Given the description of an element on the screen output the (x, y) to click on. 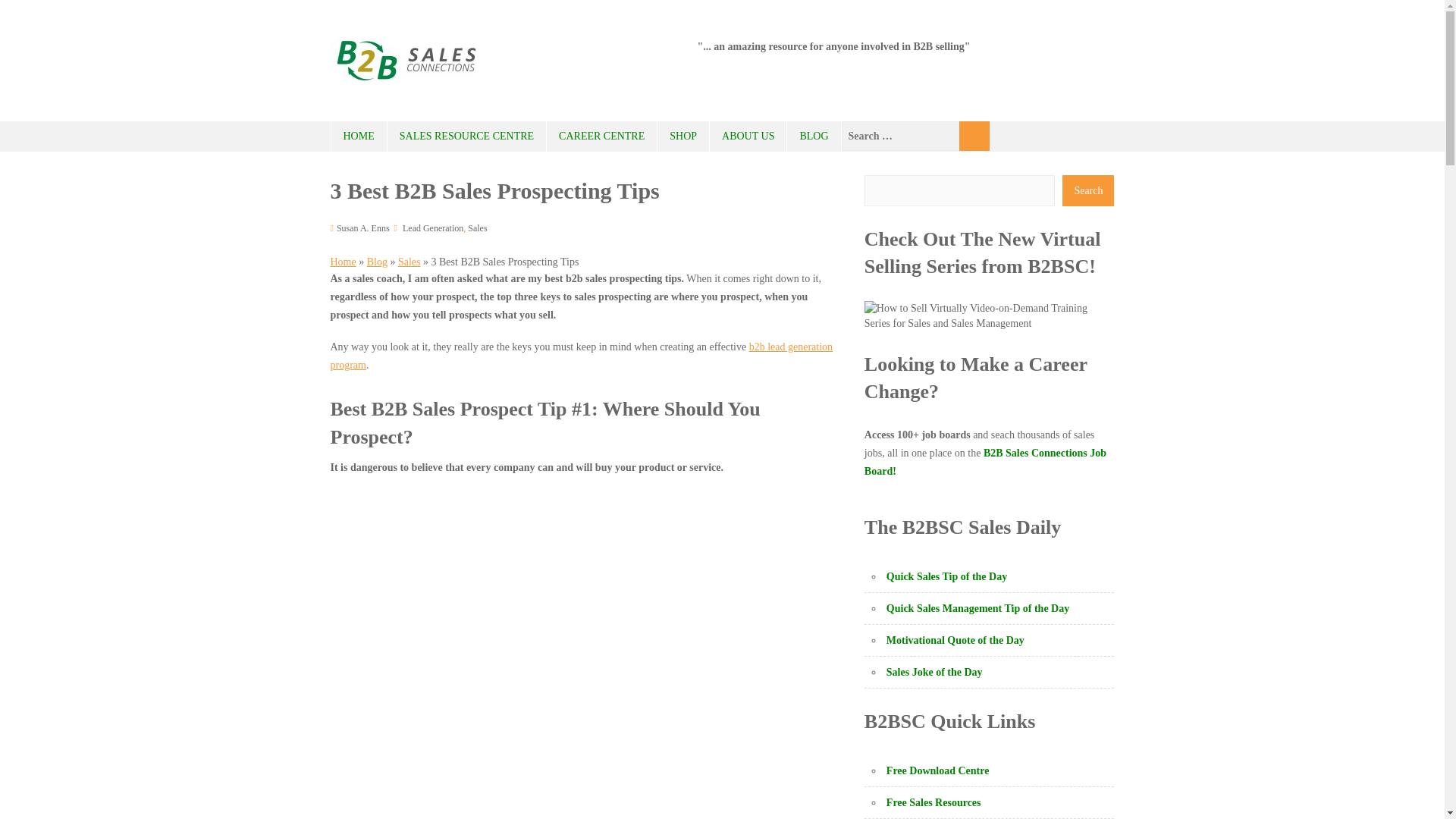
HOME (357, 136)
B2B Sales Connections Home Page (357, 136)
SALES RESOURCE CENTRE (466, 136)
CAREER CENTRE (601, 136)
About B2B Sales Connections (748, 136)
B2B Sales Connections Career Centre (601, 136)
Search (974, 135)
Search (974, 135)
SHOP (683, 136)
